Given the description of an element on the screen output the (x, y) to click on. 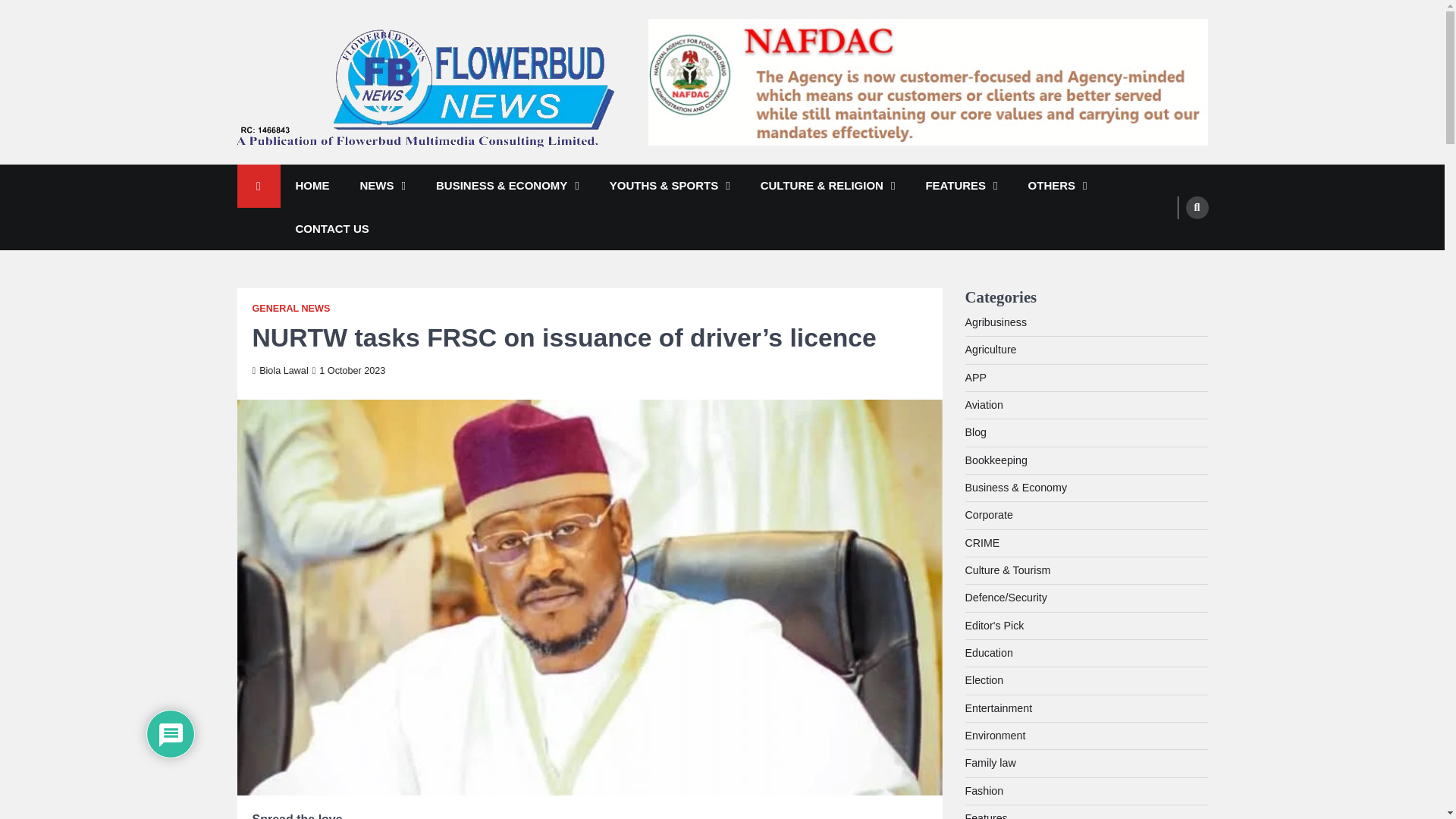
OTHERS (1057, 186)
HOME (313, 186)
NEWS (381, 186)
FEATURES (960, 186)
Search (1197, 206)
flowerbudnews.ng (335, 168)
